Given the description of an element on the screen output the (x, y) to click on. 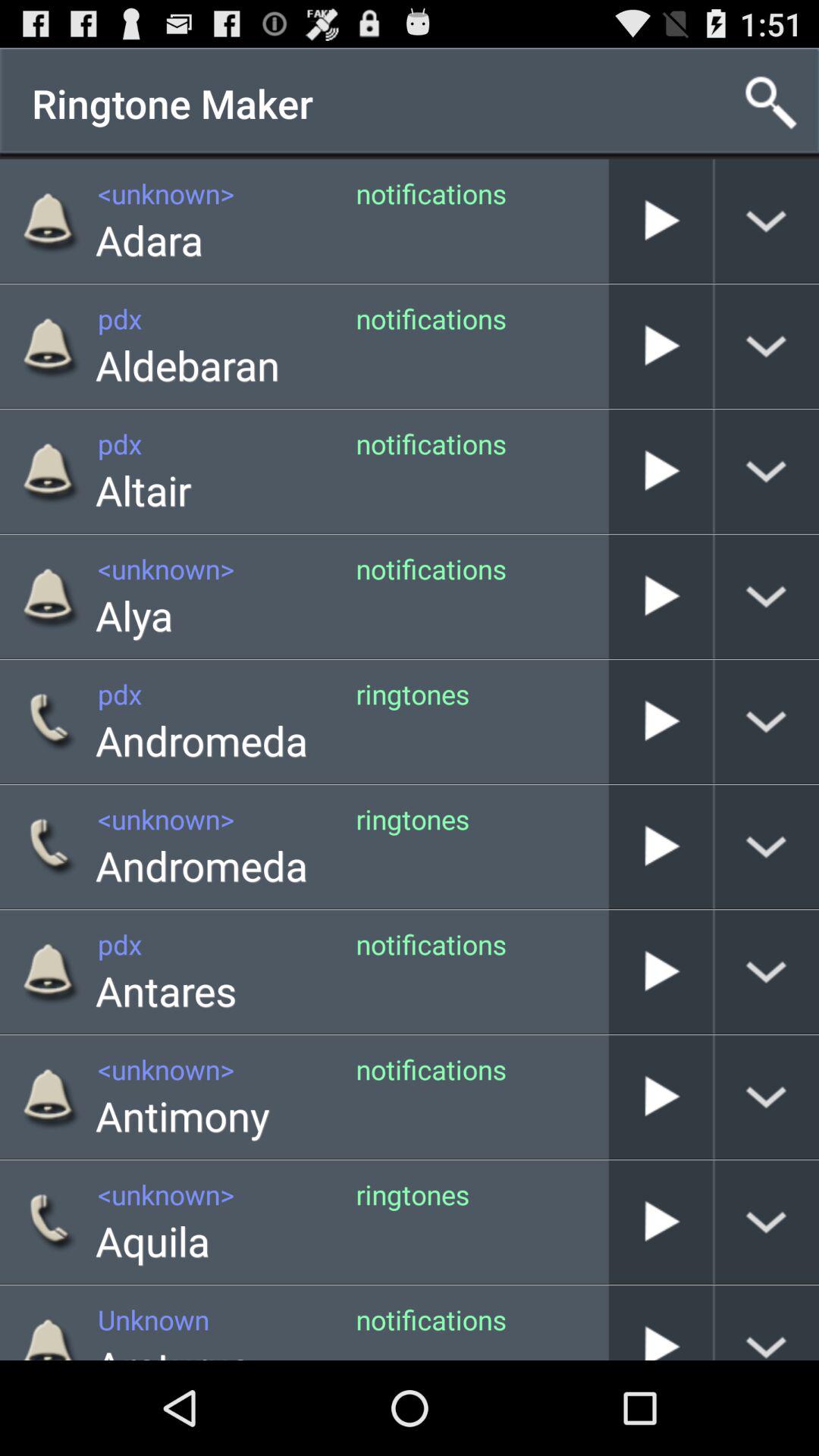
play ringtone (660, 221)
